Given the description of an element on the screen output the (x, y) to click on. 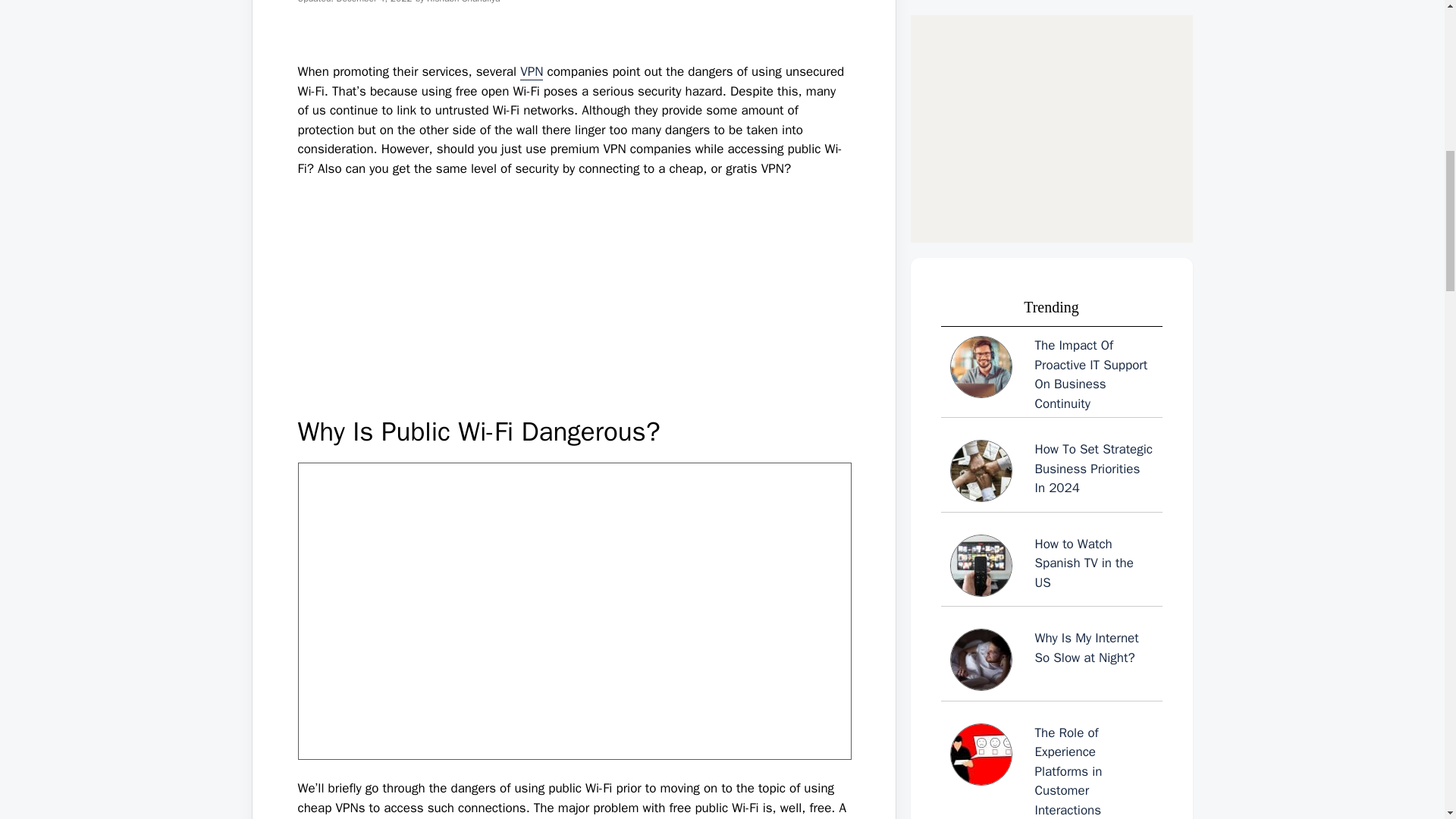
View all posts by Rishabh Shandilya (463, 2)
VPN (531, 71)
Scroll back to top (1406, 720)
Navigating the Maze: Understanding Search Engine Redirects (1051, 612)
Rishabh Shandilya (463, 2)
The Role of Experience Platforms in Customer Interactions  (1051, 196)
Top Benefits Of Using Enterprise Hosting Solutions (1051, 513)
Why Is My Internet So Slow at Night? (1051, 88)
How to Watch Spanish TV in the US (1051, 14)
